Given the description of an element on the screen output the (x, y) to click on. 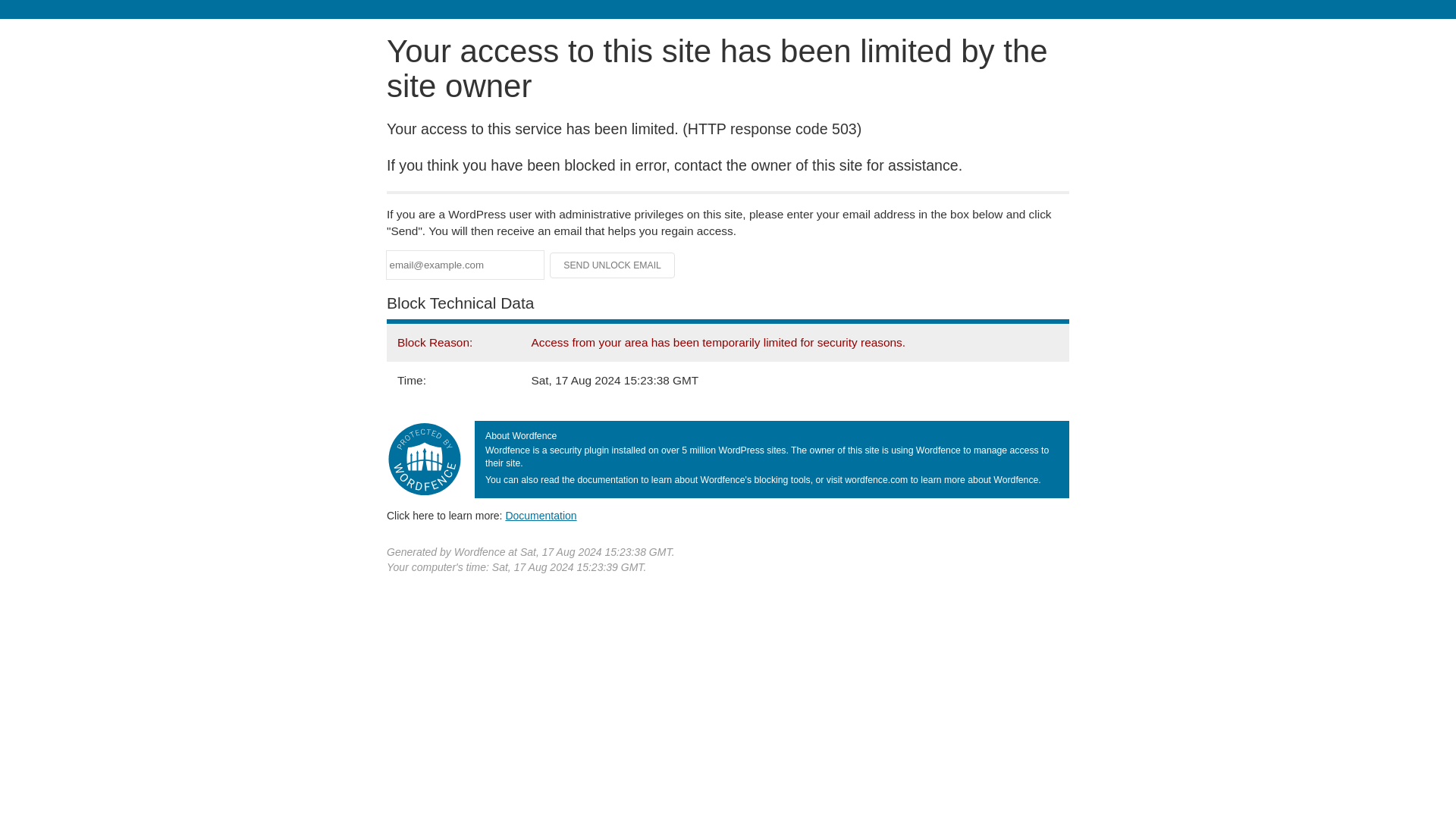
Send Unlock Email (612, 265)
Documentation (540, 515)
Send Unlock Email (612, 265)
